Given the description of an element on the screen output the (x, y) to click on. 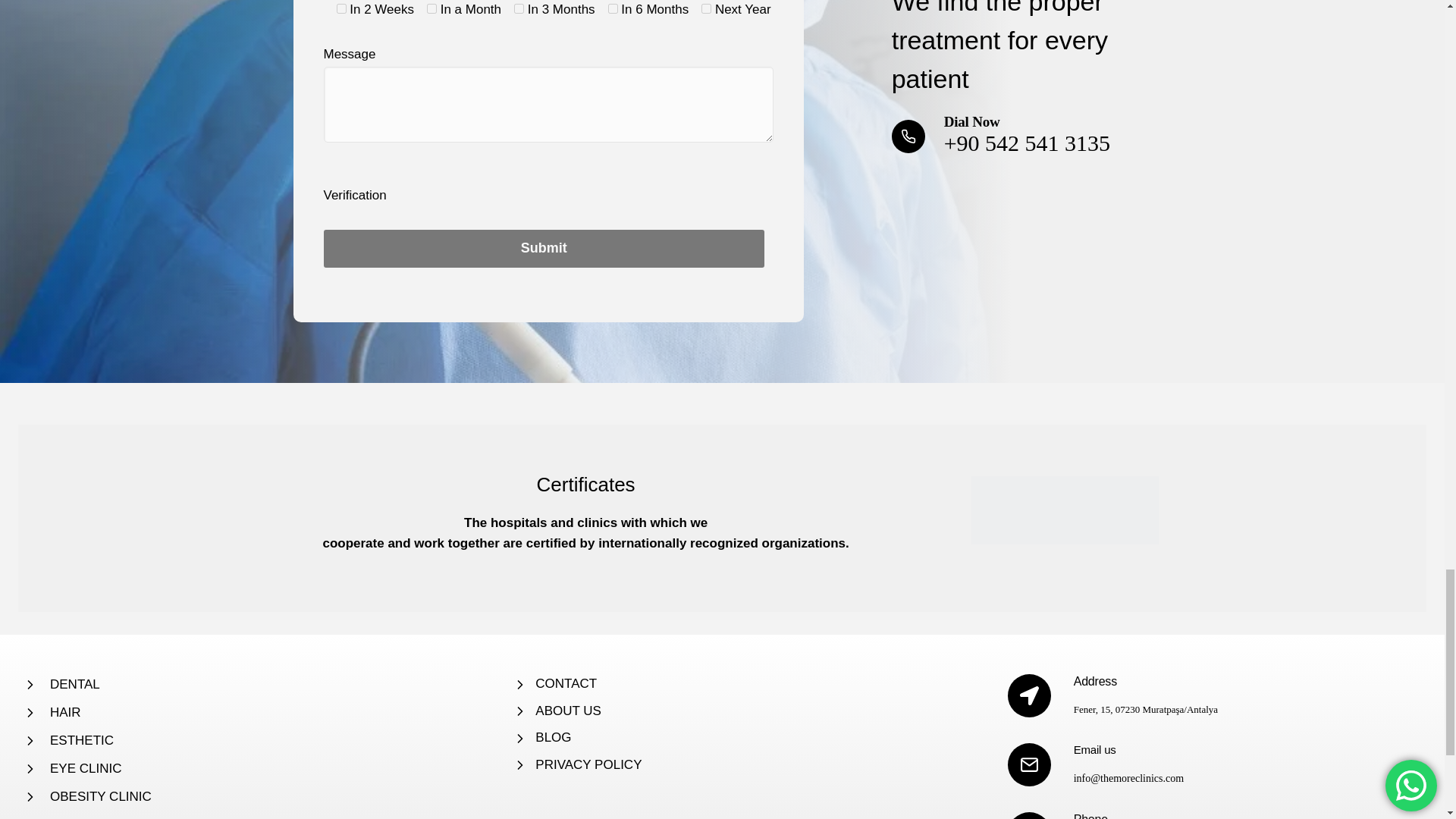
Submit (542, 248)
Next Year (706, 8)
In a Month (431, 8)
In 2 Weeks (341, 8)
In 6 Months (612, 8)
In 3 Months (518, 8)
